Given the description of an element on the screen output the (x, y) to click on. 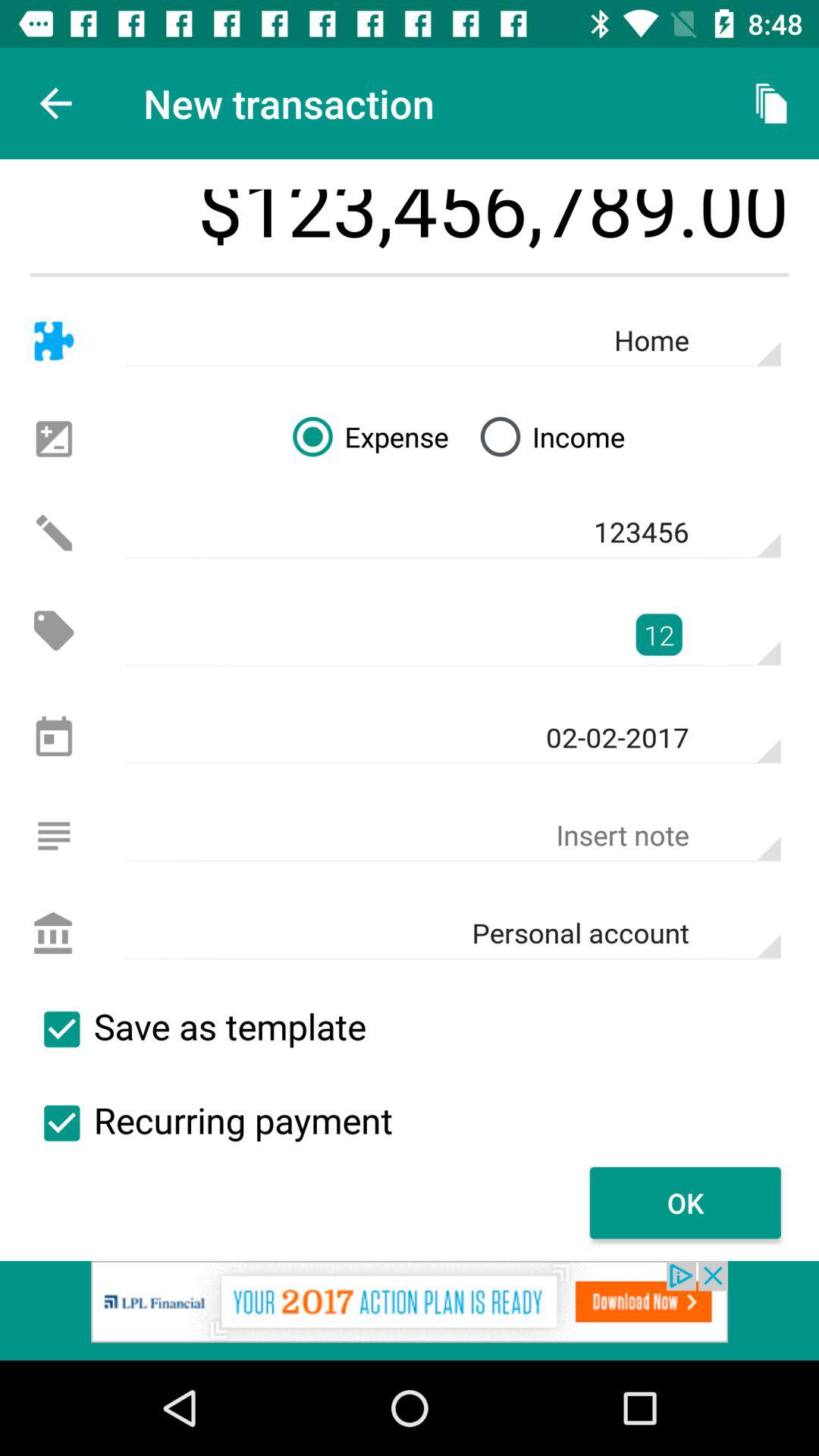
user profile (53, 933)
